Given the description of an element on the screen output the (x, y) to click on. 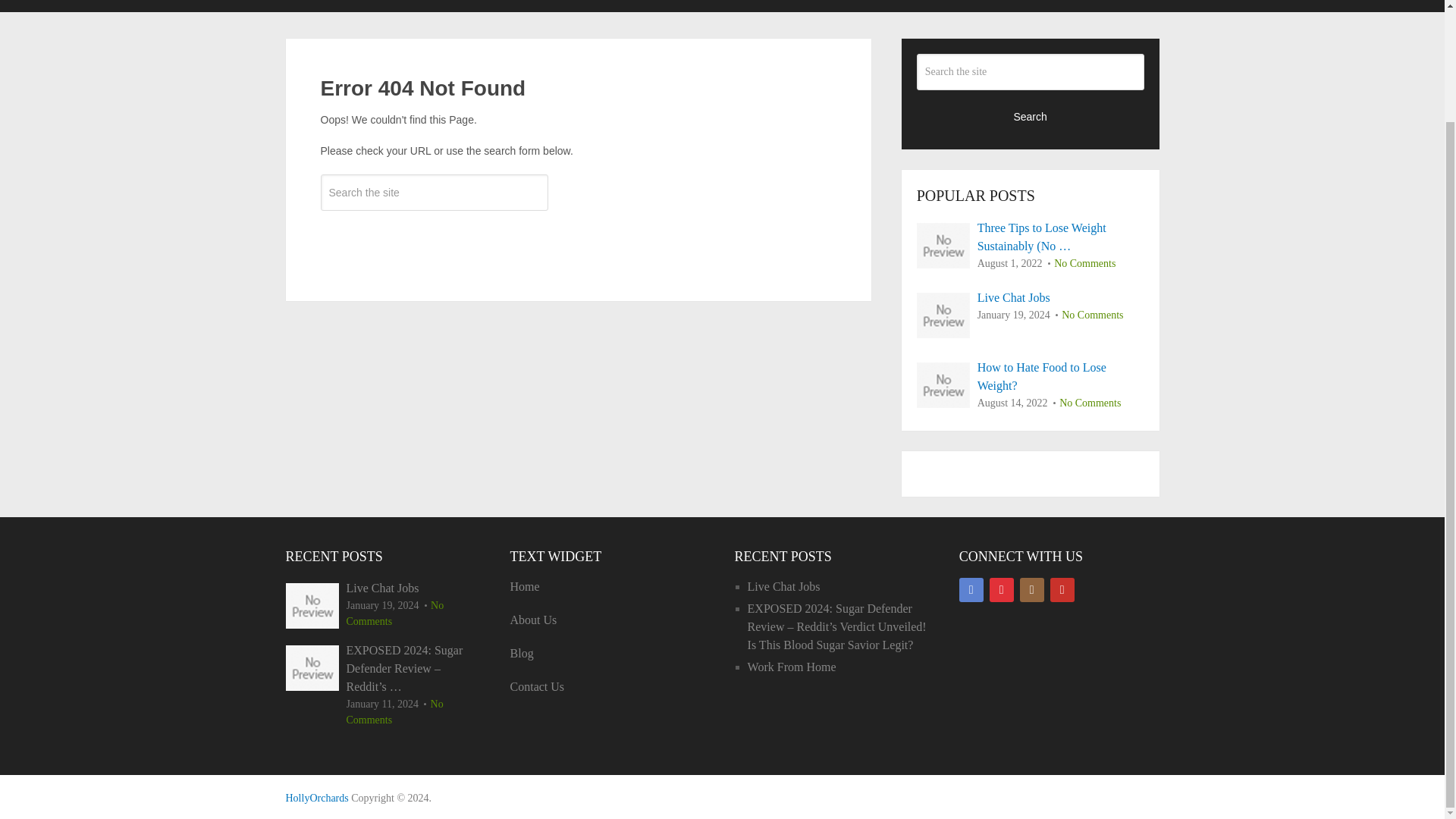
EXERCISE (545, 6)
Search (433, 236)
REMEDIES (909, 6)
BEAUTY (351, 6)
 Health and Fitness (316, 797)
MISCELLANEOUS (786, 6)
YouTube (1061, 589)
WEIGHT LOSS (1022, 6)
Search (1030, 115)
YOGA (1121, 6)
Facebook (971, 589)
Pinterest (1001, 589)
DIABETES (445, 6)
Instagram (1031, 589)
